Given the description of an element on the screen output the (x, y) to click on. 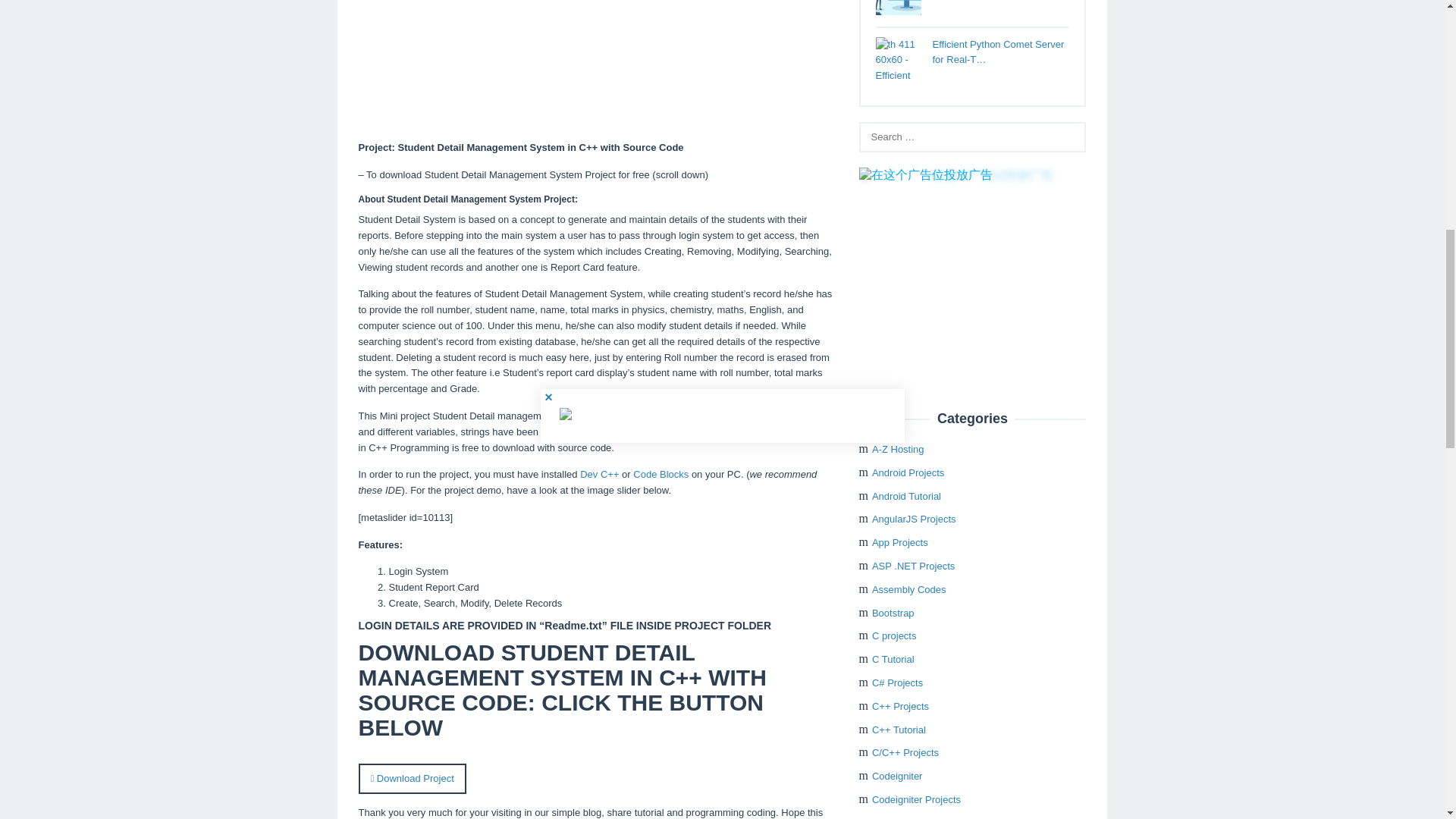
Code Blocks (660, 473)
Download Project (411, 778)
Download Project (411, 789)
